Given the description of an element on the screen output the (x, y) to click on. 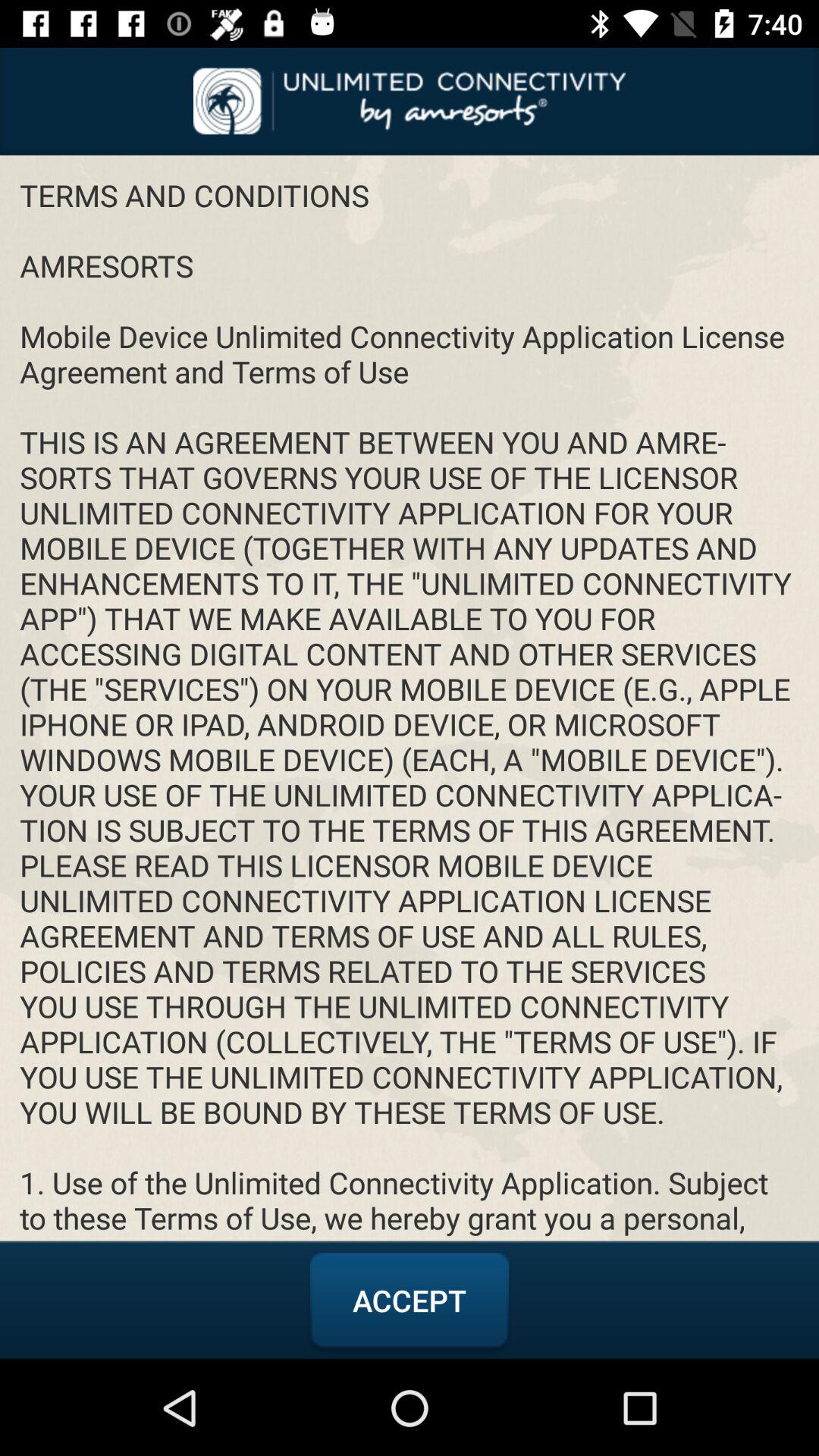
select accept icon (409, 1300)
